Given the description of an element on the screen output the (x, y) to click on. 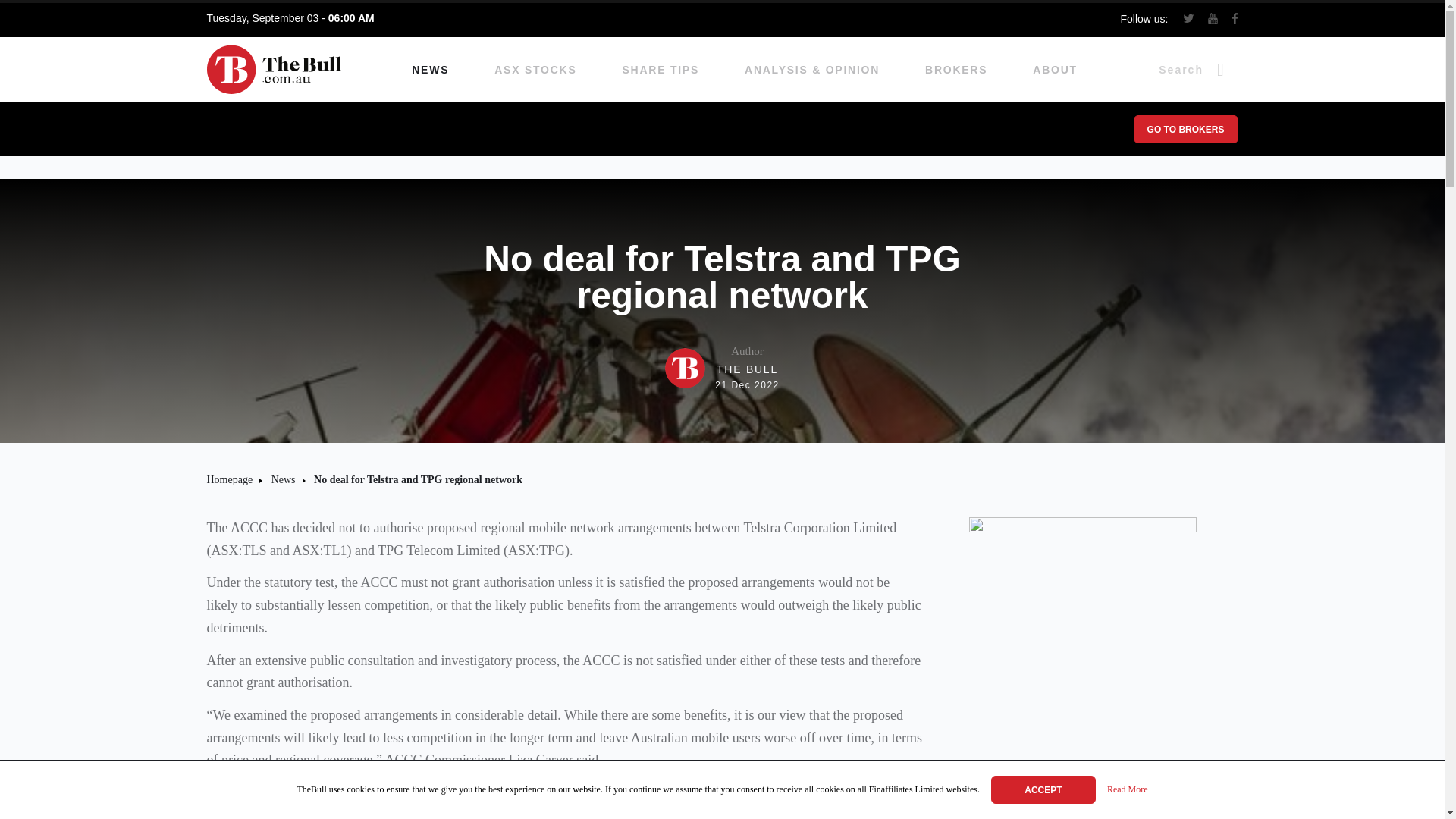
GO TO BROKERS (1184, 129)
ABOUT (1054, 69)
ACCEPT (1043, 789)
News (282, 479)
BROKERS (955, 69)
Read More (1127, 789)
Homepage (228, 479)
ASX STOCKS (535, 69)
SHARE TIPS (661, 69)
NEWS (430, 69)
